Given the description of an element on the screen output the (x, y) to click on. 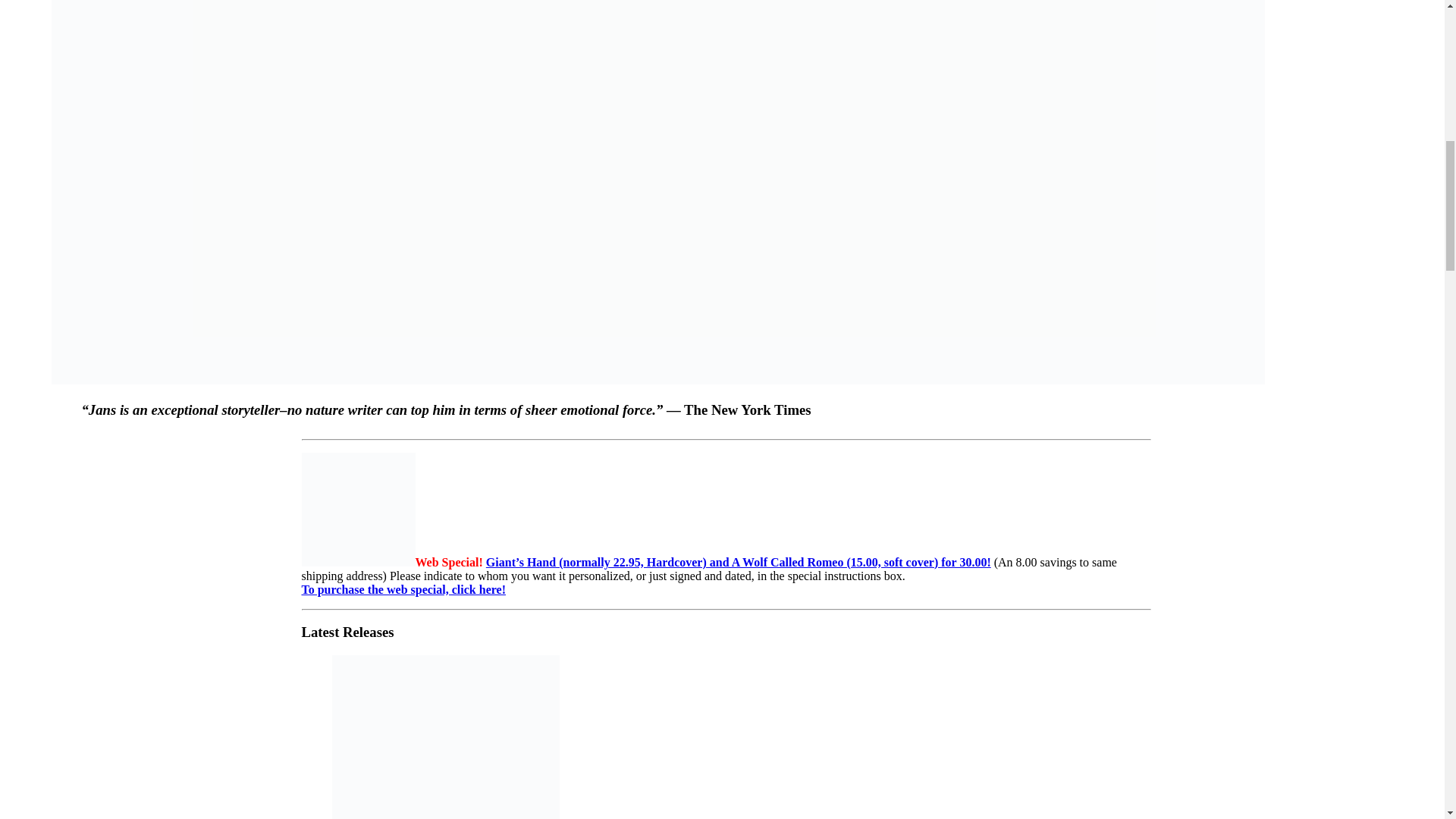
To purchase the web special, click here! (403, 589)
